Given the description of an element on the screen output the (x, y) to click on. 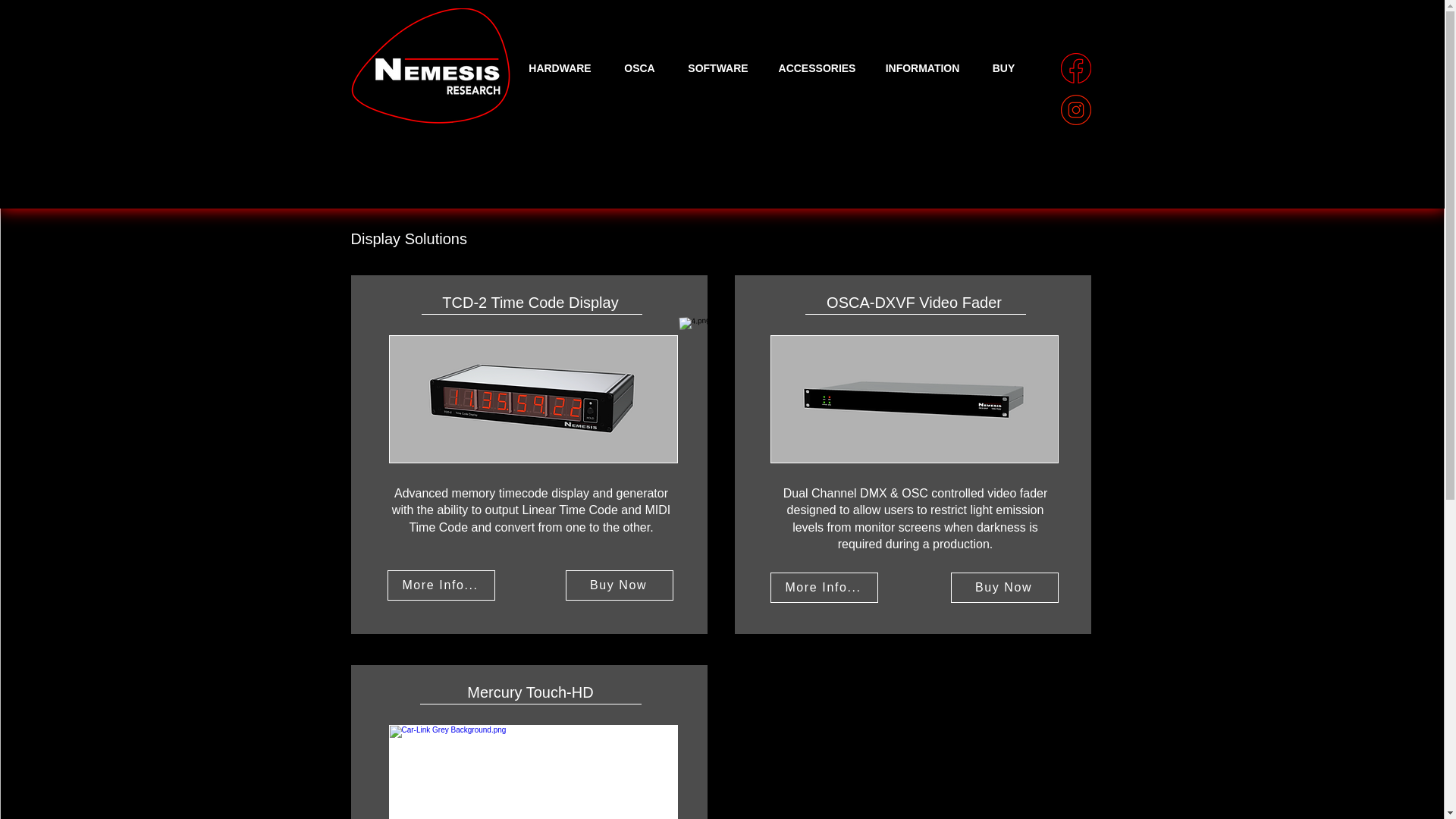
Buy Now (619, 585)
Buy Now (1004, 587)
More Info... (441, 585)
BUY (1003, 67)
More Info... (823, 587)
OSCA (639, 67)
